Given the description of an element on the screen output the (x, y) to click on. 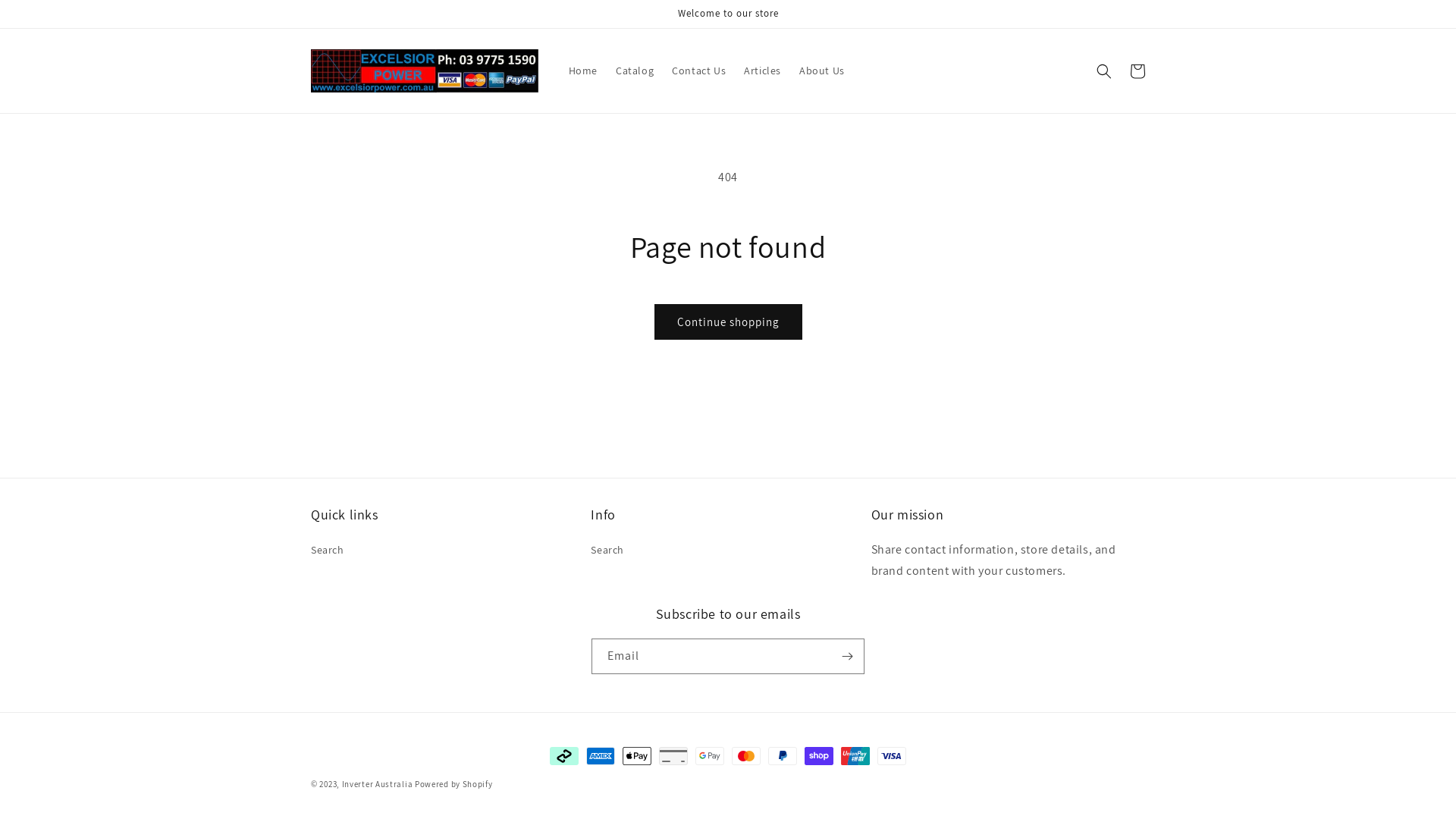
Search Element type: text (327, 551)
Contact Us Element type: text (698, 70)
Catalog Element type: text (634, 70)
Inverter Australia Element type: text (377, 783)
Cart Element type: text (1137, 70)
Continue shopping Element type: text (727, 321)
Home Element type: text (582, 70)
Articles Element type: text (762, 70)
About Us Element type: text (821, 70)
Powered by Shopify Element type: text (453, 783)
Search Element type: text (607, 551)
